Given the description of an element on the screen output the (x, y) to click on. 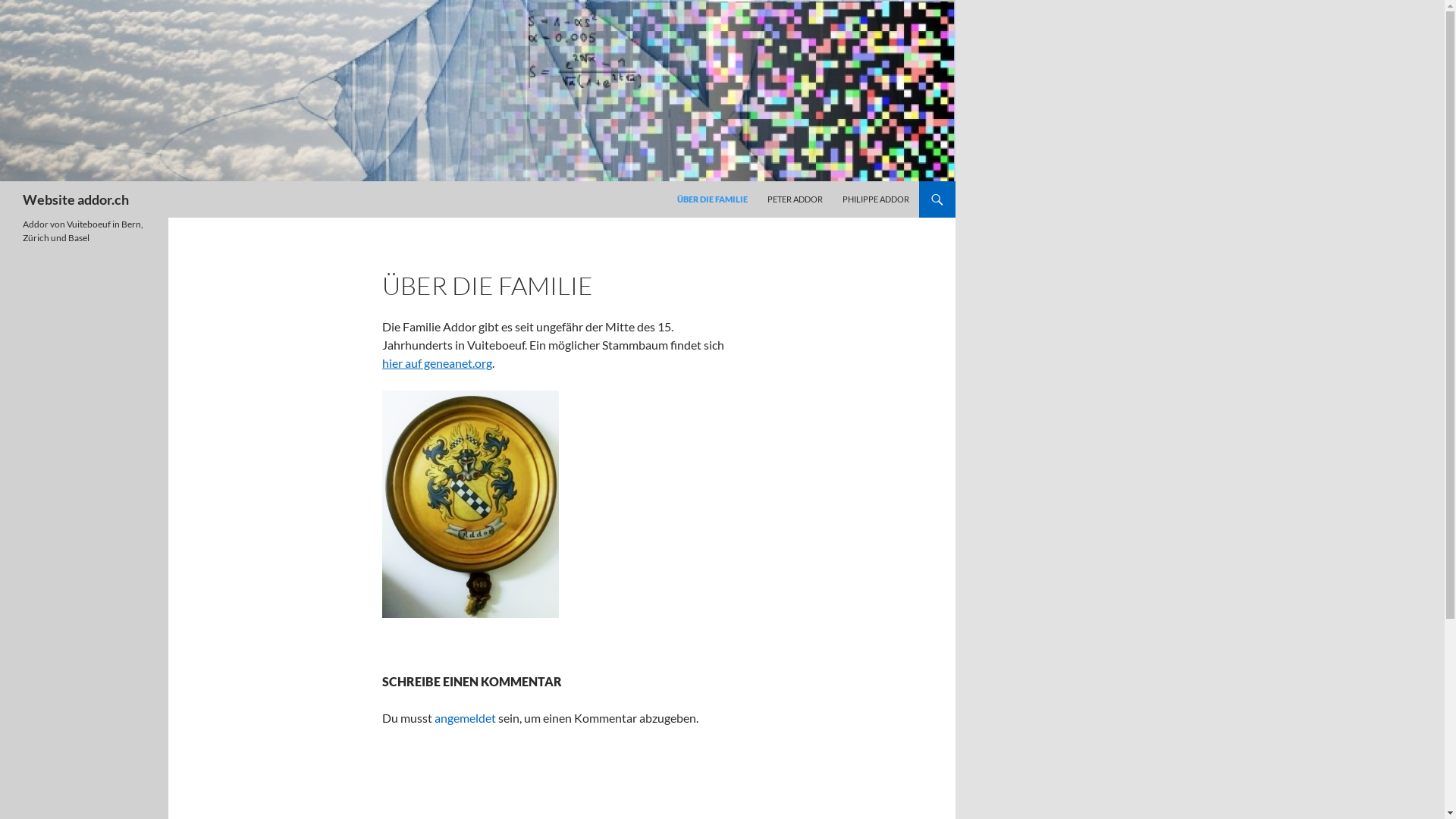
Suchen Element type: text (3, 181)
Website addor.ch Element type: text (75, 199)
PETER ADDOR Element type: text (794, 199)
PHILIPPE ADDOR Element type: text (875, 199)
SPRINGE ZUM INHALT Element type: text (677, 181)
angemeldet Element type: text (464, 717)
hier auf geneanet.org Element type: text (437, 362)
